Given the description of an element on the screen output the (x, y) to click on. 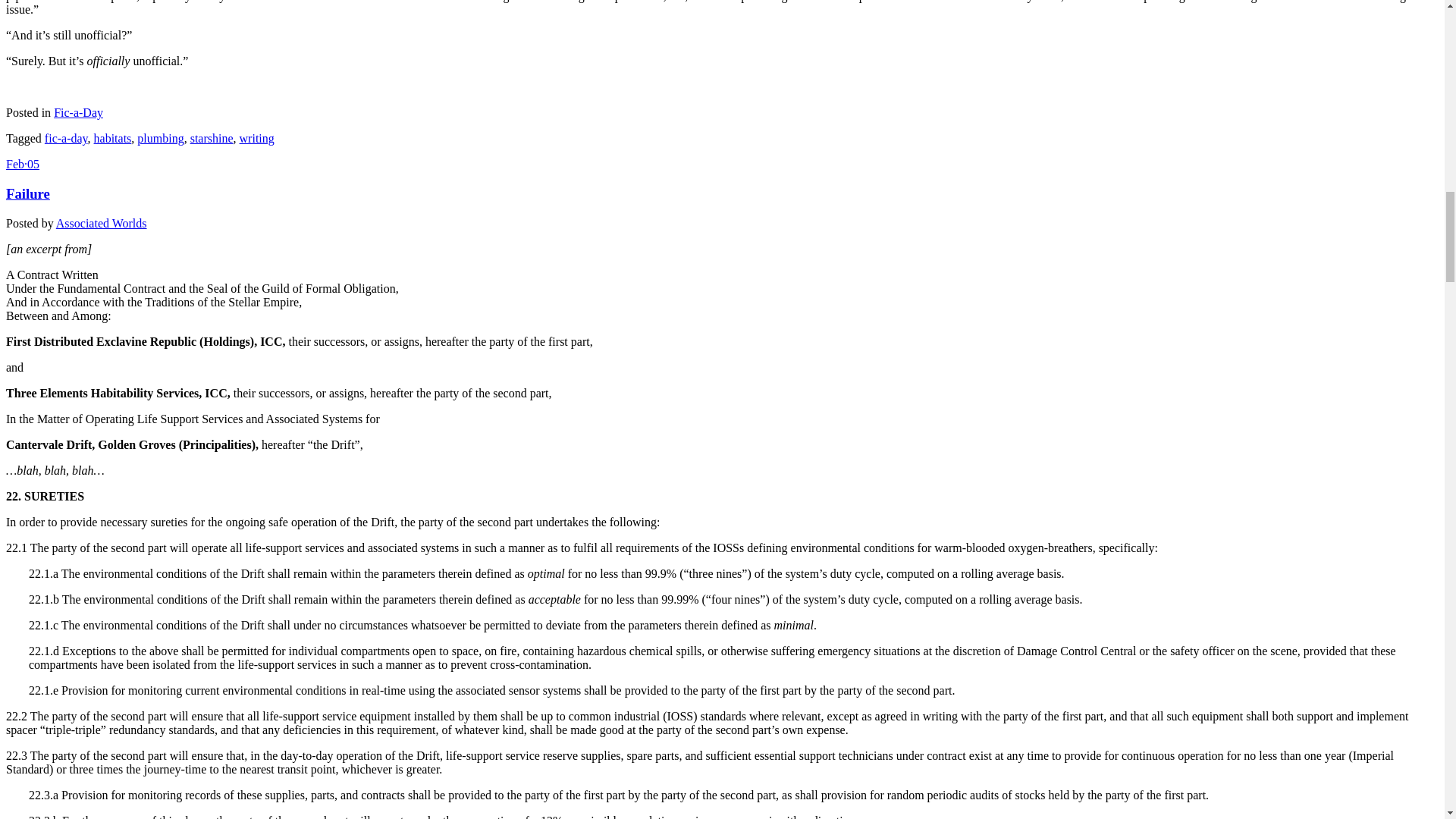
View all posts by Associated Worlds (101, 223)
Permalink to Distinctions (22, 164)
